Given the description of an element on the screen output the (x, y) to click on. 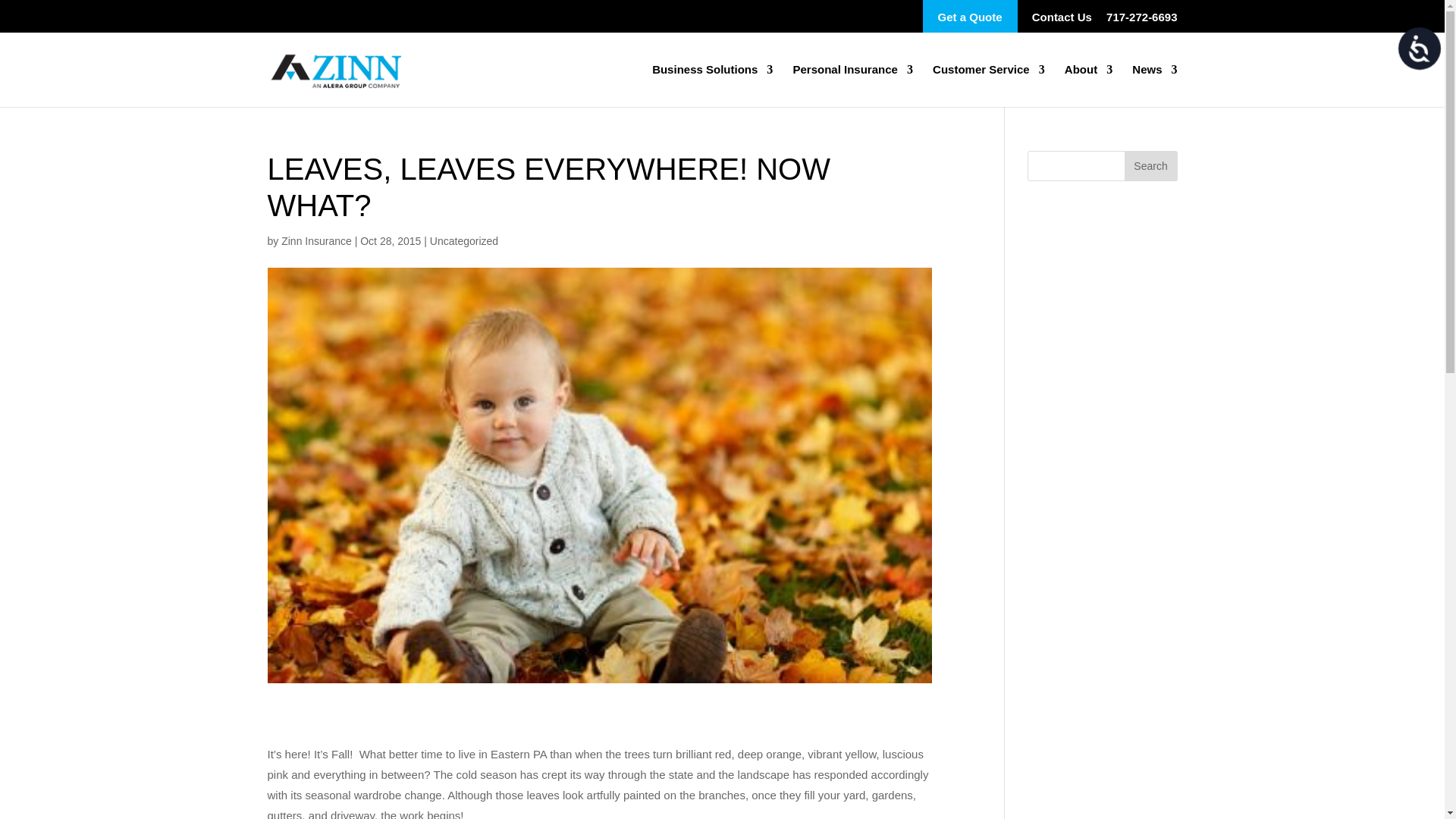
Contact Us (1062, 21)
Posts by Zinn Insurance (316, 241)
717-272-6693 (1141, 21)
Customer Service (989, 85)
News (1154, 85)
Personal Insurance (852, 85)
Search (1150, 165)
Get a Quote (970, 16)
Business Solutions (712, 85)
About (1088, 85)
